Given the description of an element on the screen output the (x, y) to click on. 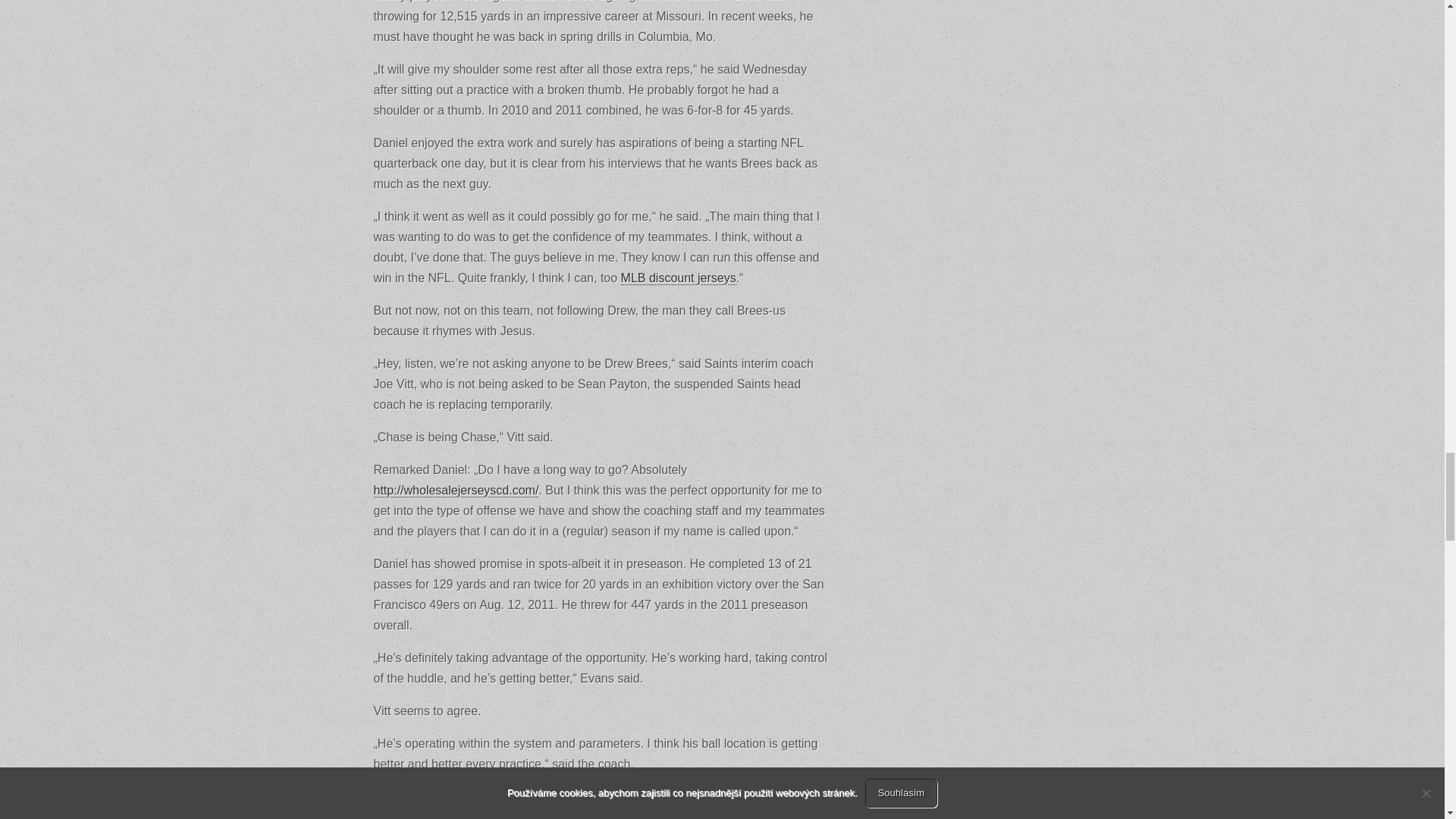
MLB discount jerseys (678, 278)
